Given the description of an element on the screen output the (x, y) to click on. 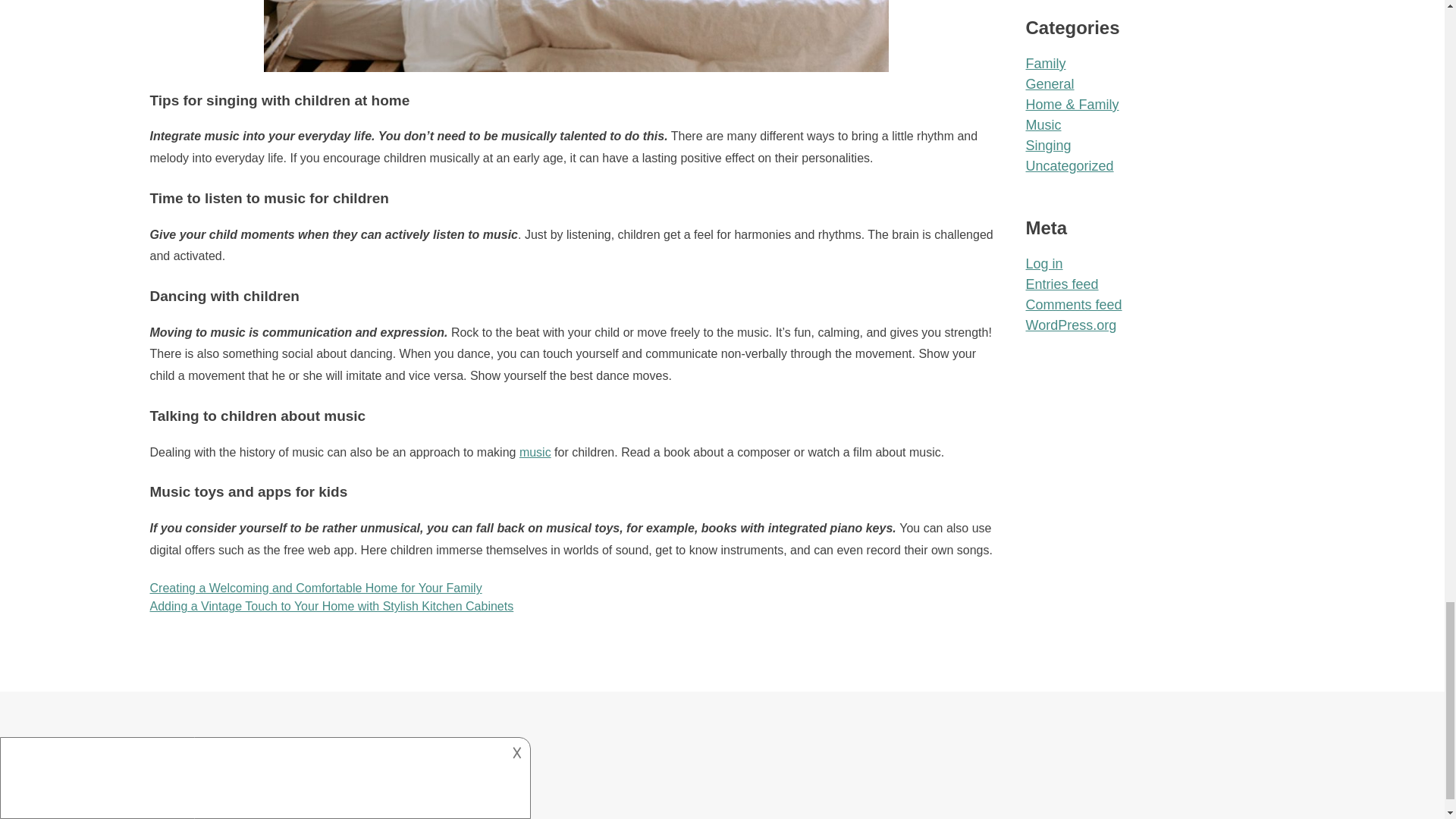
Creating a Welcoming and Comfortable Home for Your Family (315, 587)
music (535, 451)
